Given the description of an element on the screen output the (x, y) to click on. 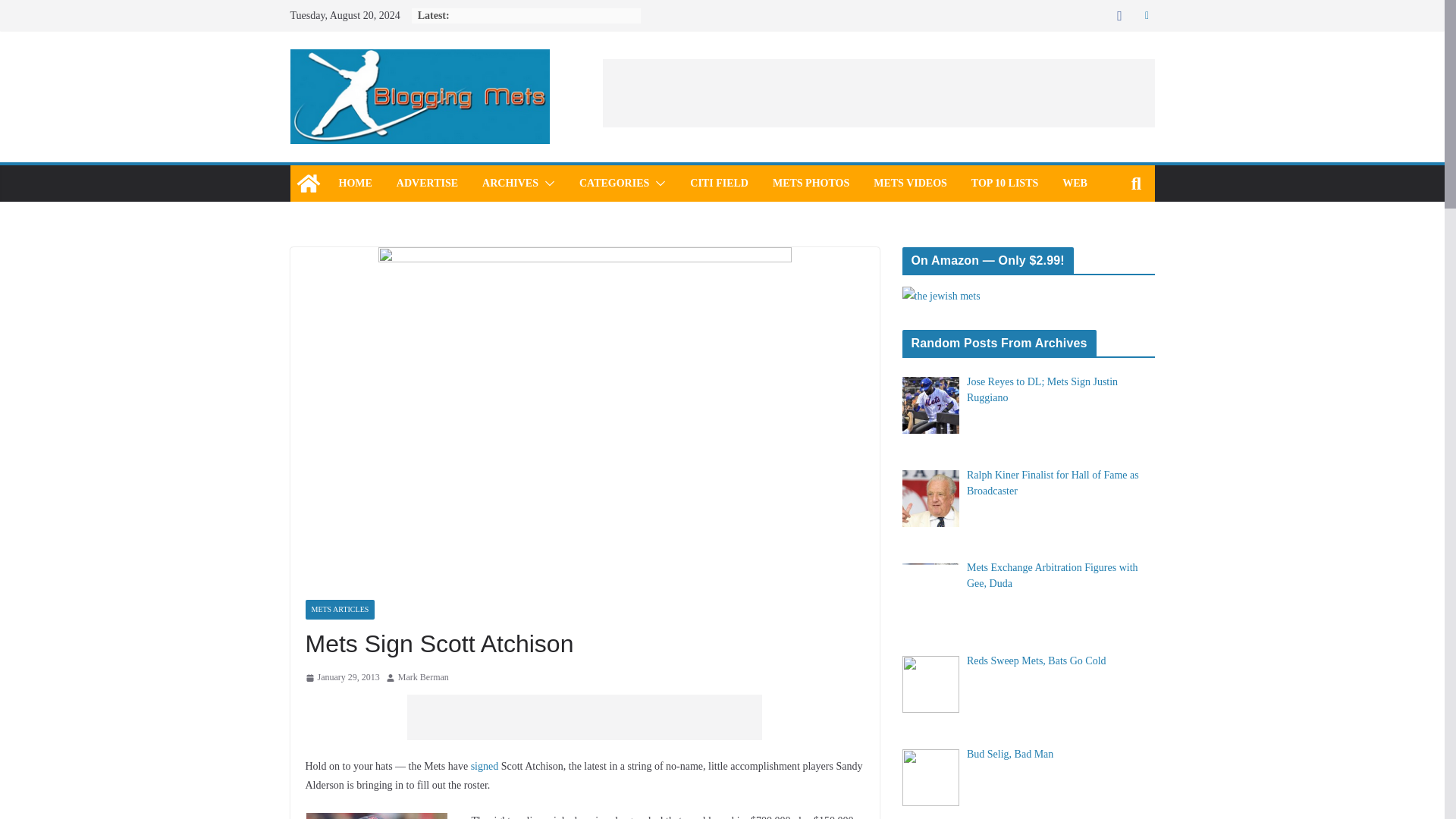
HOME (354, 183)
CATEGORIES (614, 183)
ARCHIVES (509, 183)
Mark Berman (422, 677)
ADVERTISE (427, 183)
3:42 pm (341, 677)
Blogging Mets (307, 183)
